Given the description of an element on the screen output the (x, y) to click on. 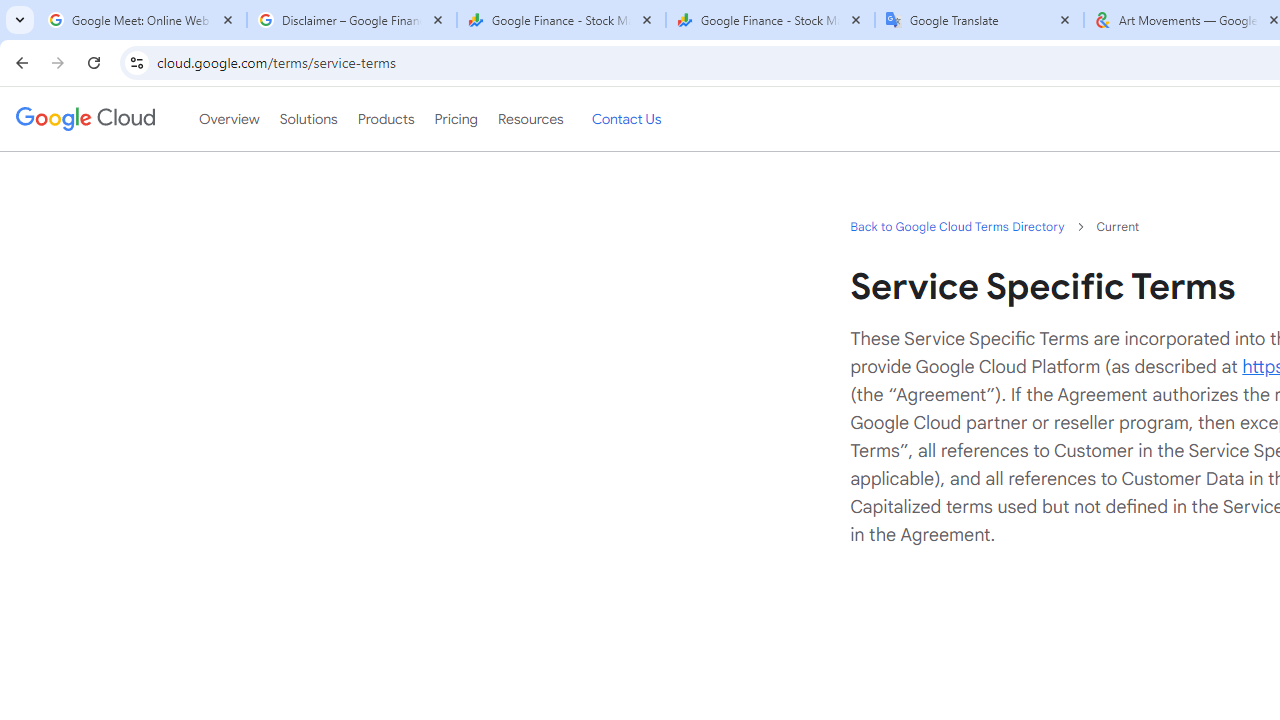
Google Cloud (84, 118)
Google Translate (979, 20)
Contact Us (626, 119)
Products (385, 119)
Pricing (455, 119)
